Given the description of an element on the screen output the (x, y) to click on. 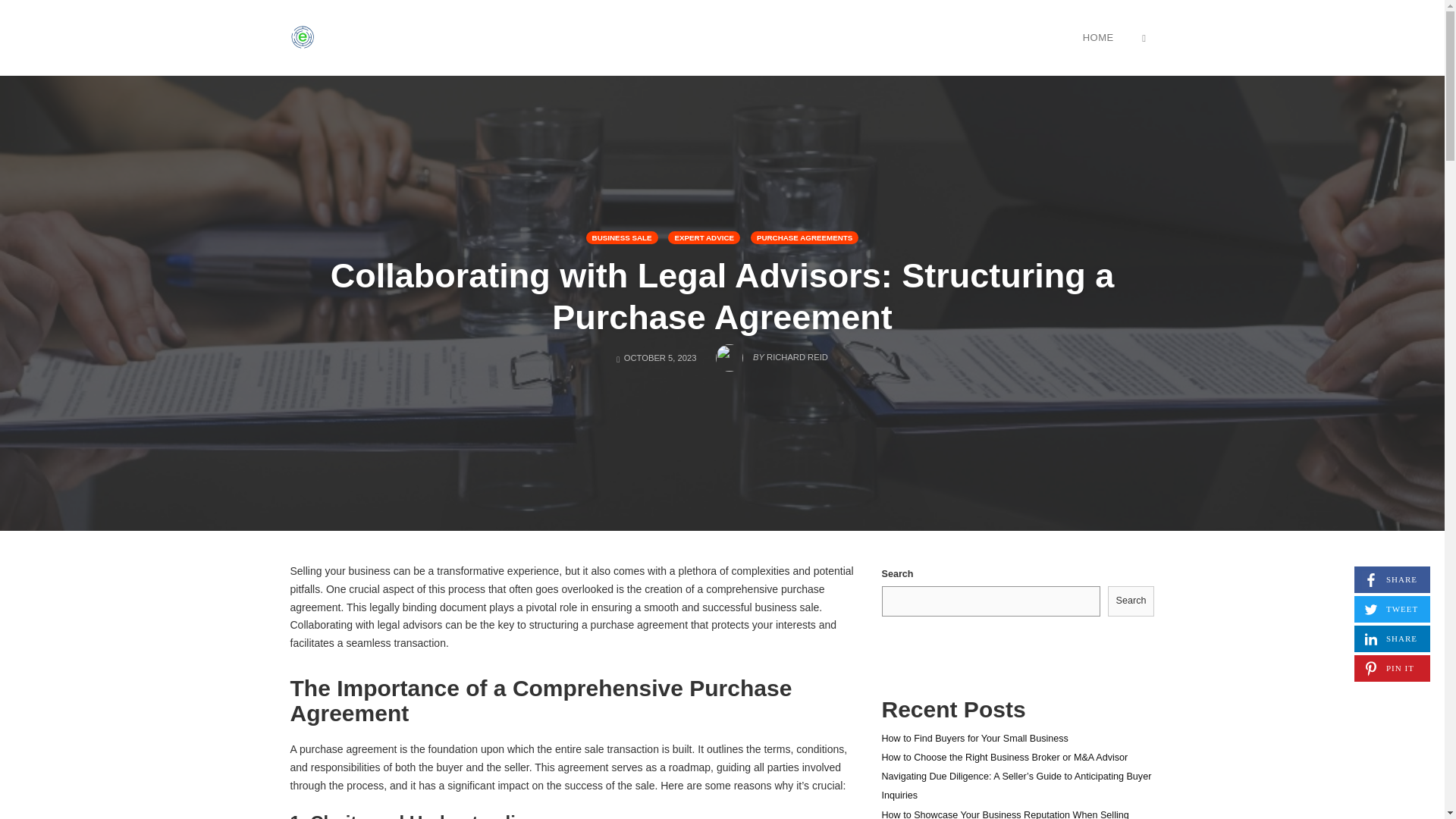
OPEN SEARCH FORM (1144, 37)
HOME (1098, 37)
PURCHASE AGREEMENTS (1391, 579)
How to Find Buyers for Your Small Business (805, 237)
Search (973, 738)
EXPERT ADVICE (1391, 638)
sellmybusiness-io (1131, 600)
BY RICHARD REID (703, 237)
BUSINESS SALE (301, 37)
